Given the description of an element on the screen output the (x, y) to click on. 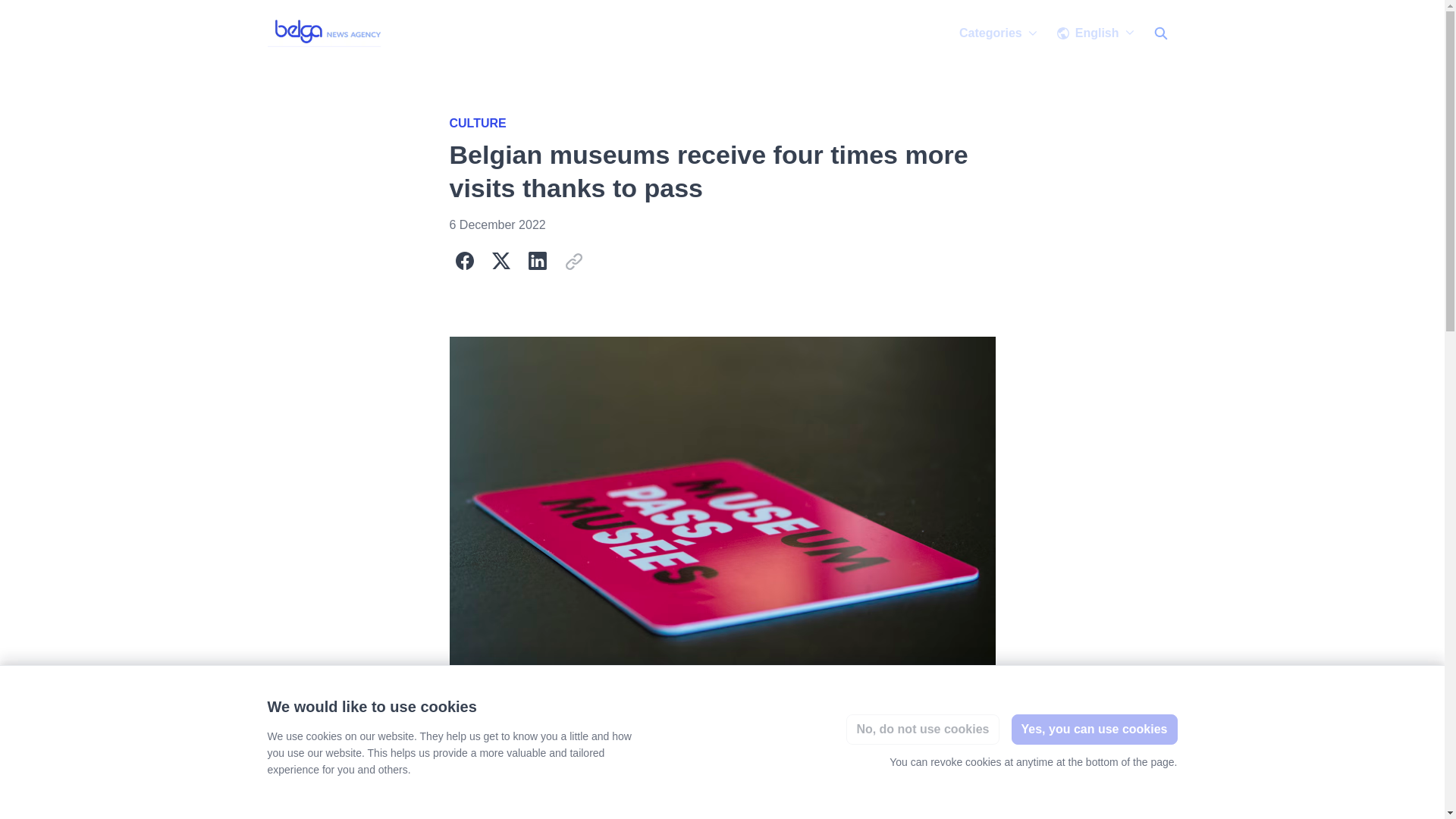
BELGANEWSAGENCY.EU (326, 33)
Search (1159, 32)
Copy URL (572, 260)
CULTURE (476, 123)
Categories (997, 33)
English (1095, 33)
